Given the description of an element on the screen output the (x, y) to click on. 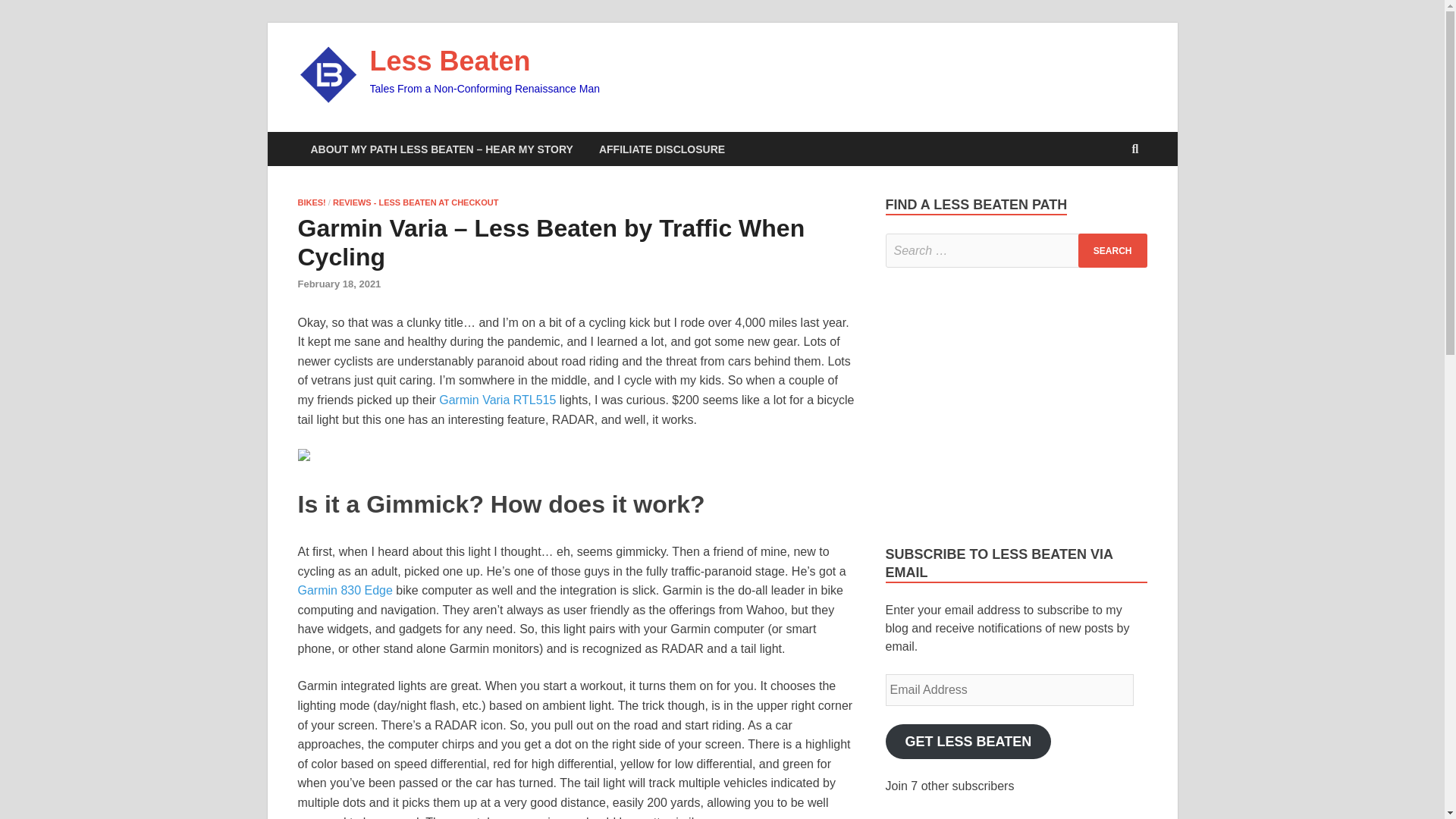
GET LESS BEATEN (968, 741)
Search (1112, 250)
Garmin 830 Edge (344, 590)
AFFILIATE DISCLOSURE (662, 148)
February 18, 2021 (338, 283)
Advertisement (1012, 404)
REVIEWS - LESS BEATEN AT CHECKOUT (416, 202)
Garmin Varia RTL515 (497, 399)
Less Beaten (450, 60)
Search (1112, 250)
